Given the description of an element on the screen output the (x, y) to click on. 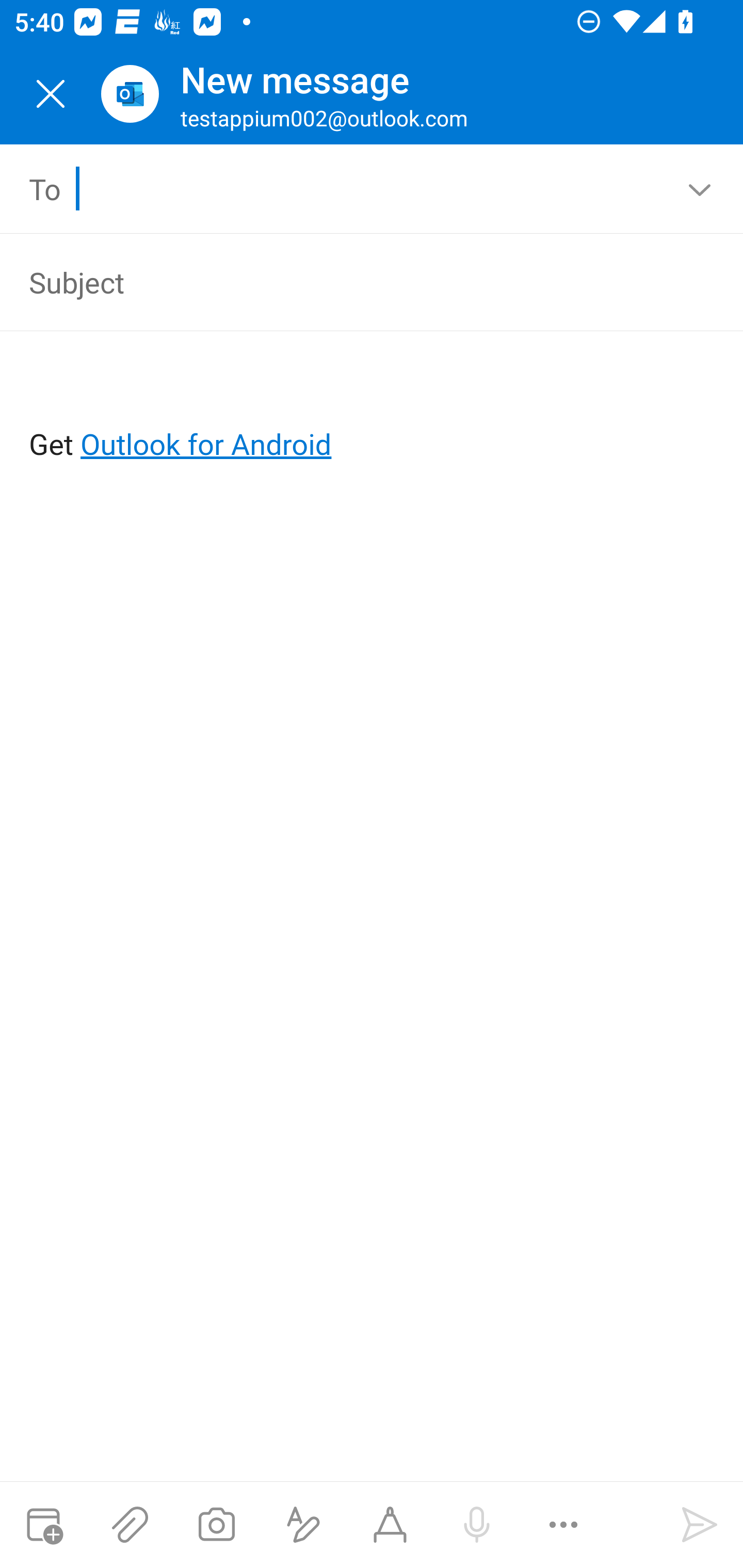
Close (50, 93)
Subject (342, 281)


Get Outlook for Android (372, 411)
Attach meeting (43, 1524)
Attach files (129, 1524)
Take a photo (216, 1524)
Show formatting options (303, 1524)
Start Ink compose (389, 1524)
More options (563, 1524)
Send (699, 1524)
